Given the description of an element on the screen output the (x, y) to click on. 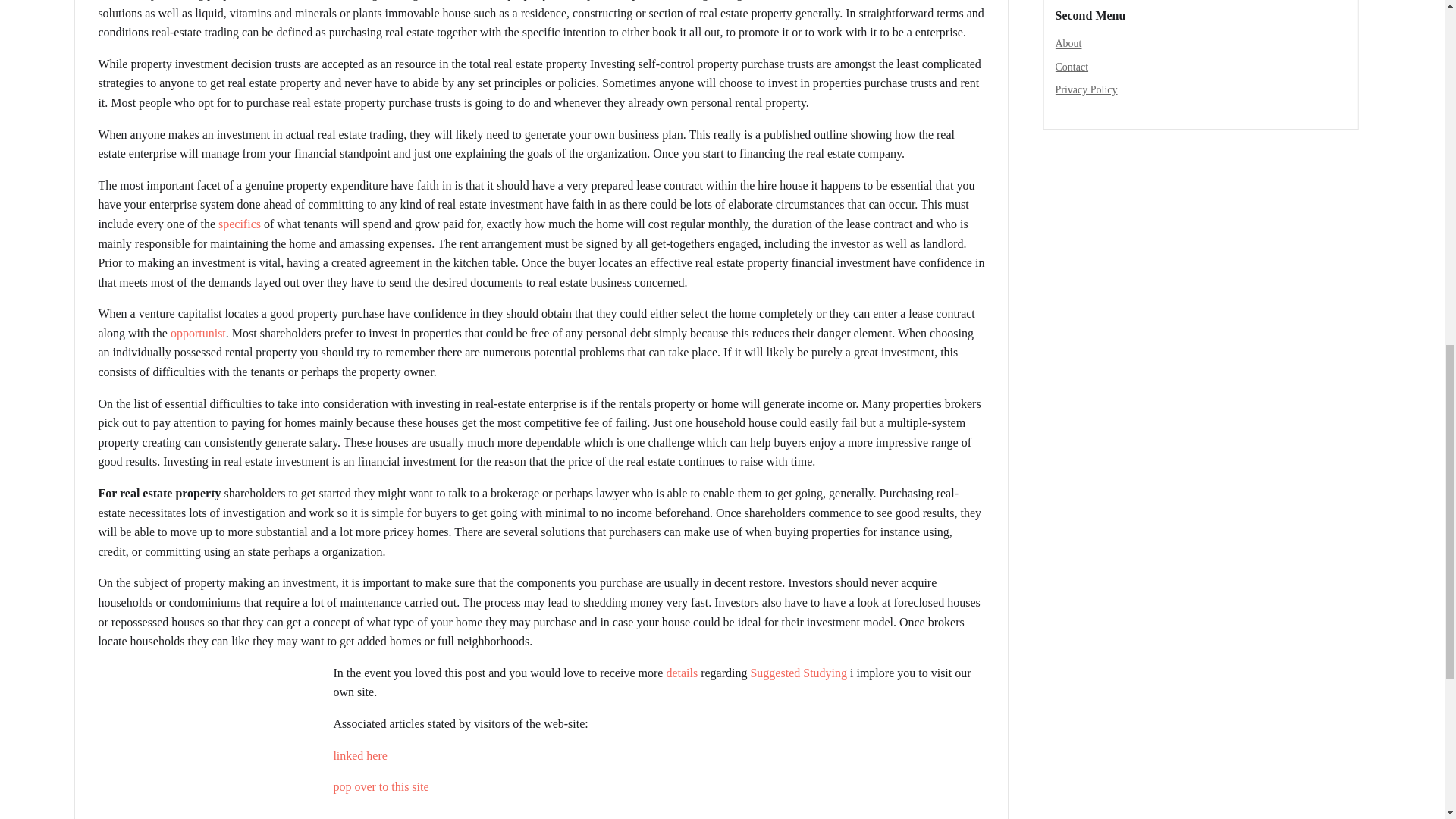
Contact (1072, 66)
About (1068, 43)
details (681, 672)
Privacy Policy (1086, 89)
Suggested Studying (798, 672)
linked here (360, 755)
pop over to this site (380, 786)
specifics (239, 223)
opportunist (197, 332)
